Given the description of an element on the screen output the (x, y) to click on. 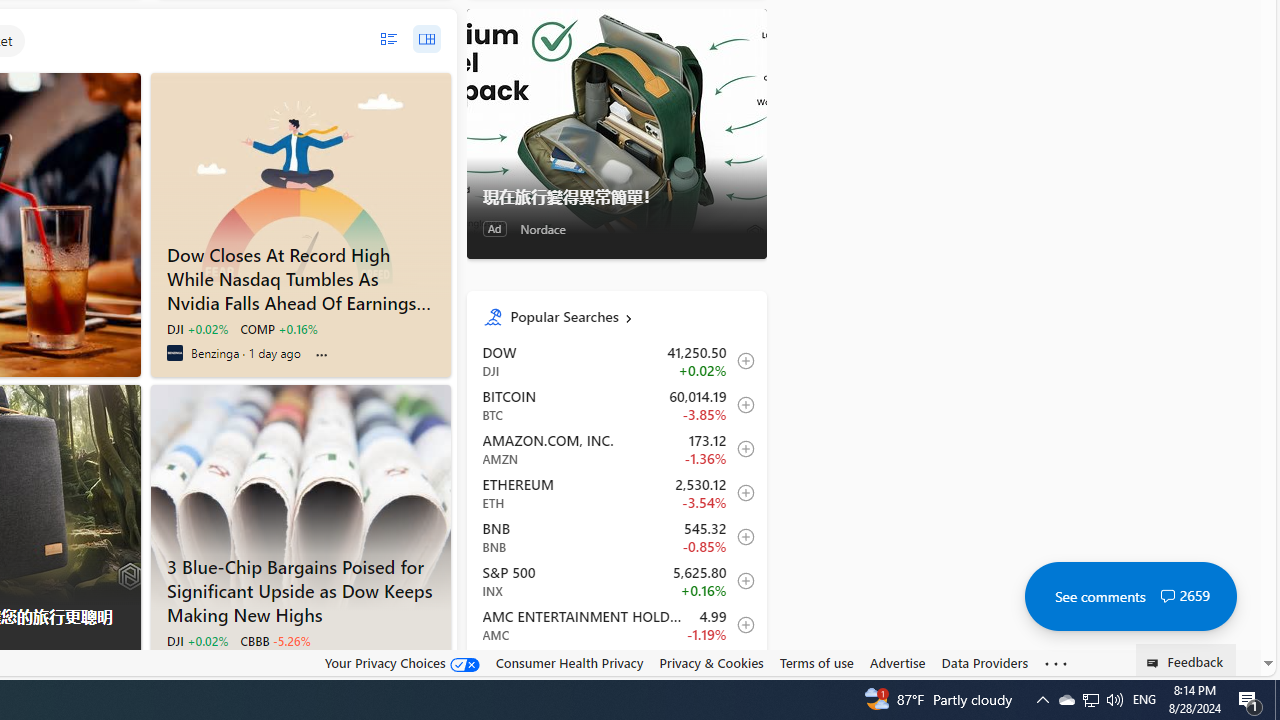
Benzinga (174, 352)
AdChoices (123, 668)
Class: feedback_link_icon-DS-EntryPoint1-1 (1156, 663)
COMP +0.16% (278, 328)
BNB BNB decrease 545.32 -4.62 -0.85% itemundefined (615, 536)
Popular Searches (630, 316)
Data Providers (983, 663)
Privacy & Cookies (711, 662)
ADA Cardano decrease 0.36 -0.00 -1.26% itemundefined (615, 669)
See comments 2659 (1130, 596)
CBBB -5.26% (275, 640)
AdChoices (123, 669)
